Given the description of an element on the screen output the (x, y) to click on. 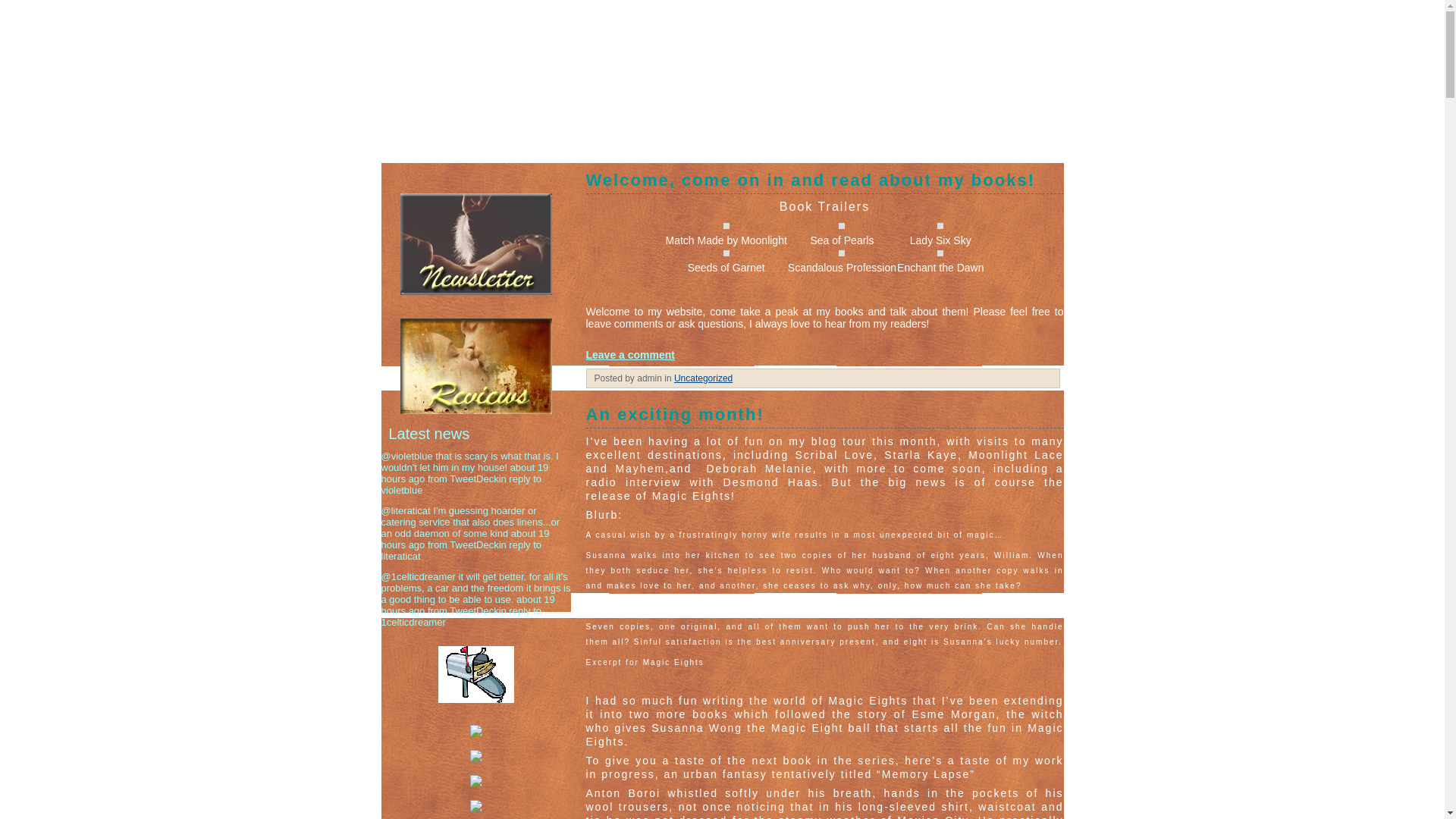
Welcome, come on in and read about my books! (823, 182)
An exciting month! (823, 416)
Leave a comment (630, 354)
Uncategorized (703, 378)
